Given the description of an element on the screen output the (x, y) to click on. 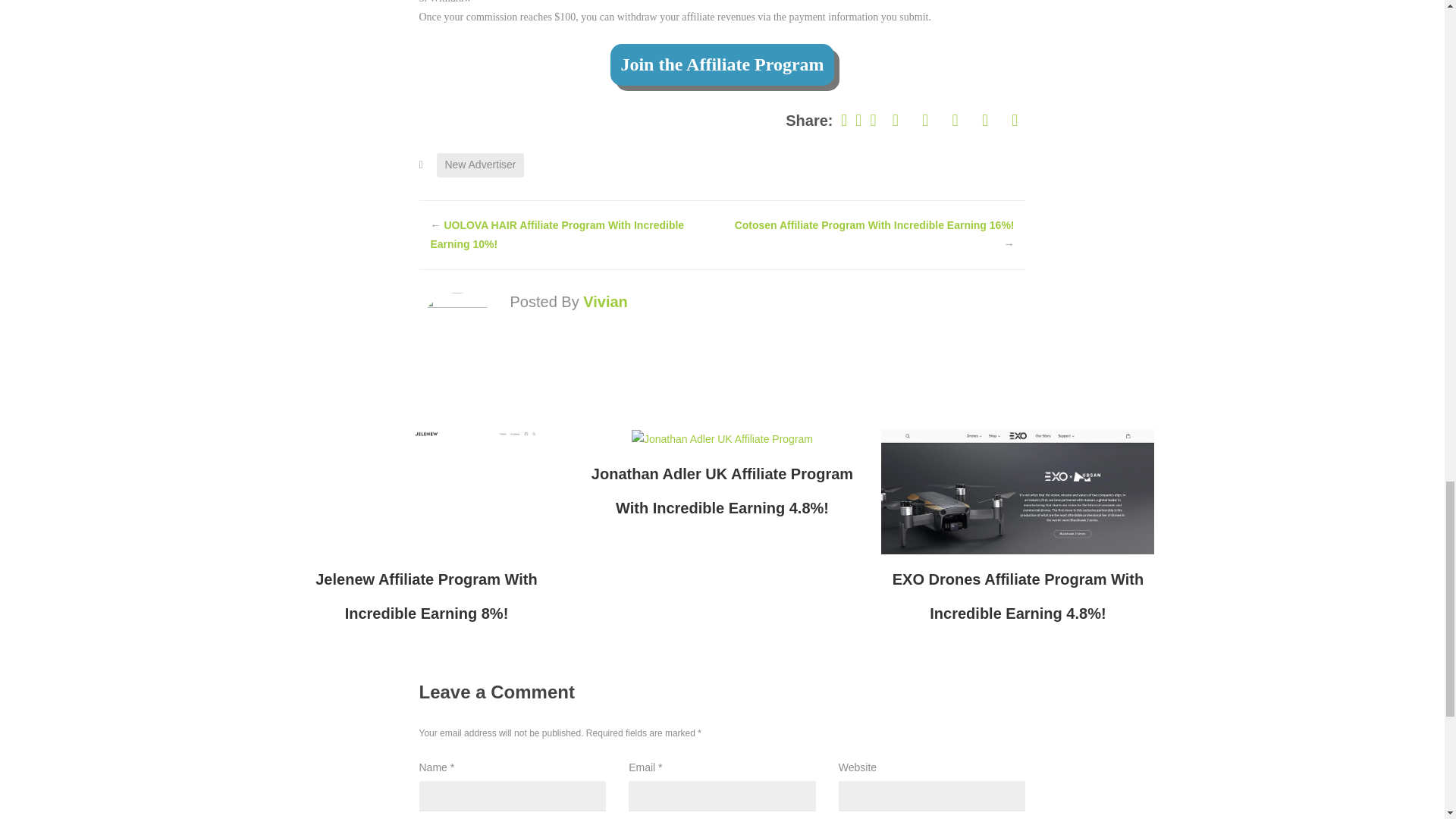
pinterest (925, 119)
Join the Affiliate Program (721, 64)
New Advertiser (479, 164)
reddit (985, 119)
vk (895, 119)
google plus (954, 119)
instagram (1012, 119)
Vivian (605, 301)
